Given the description of an element on the screen output the (x, y) to click on. 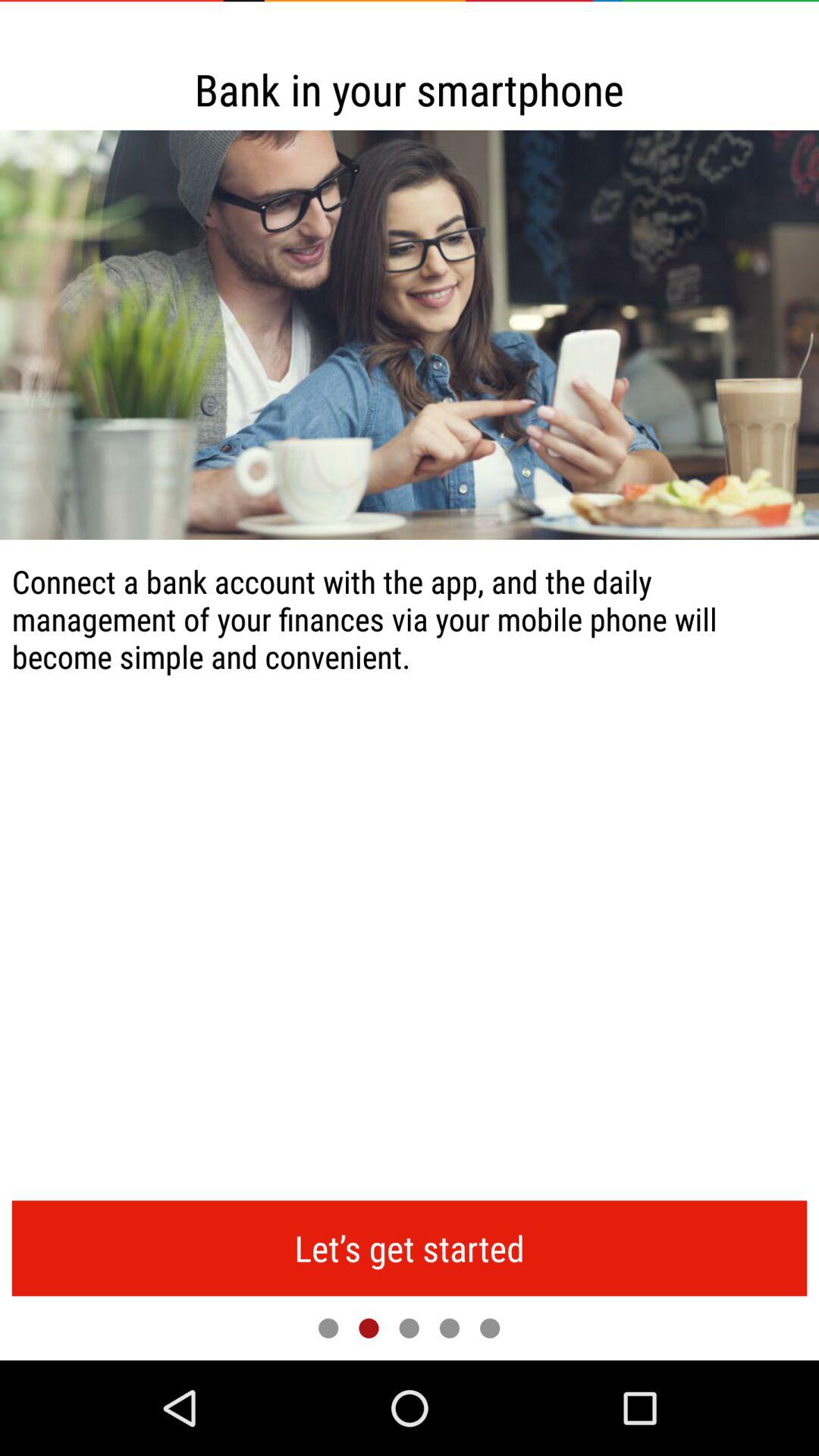
flip to the let s get item (409, 1248)
